Given the description of an element on the screen output the (x, y) to click on. 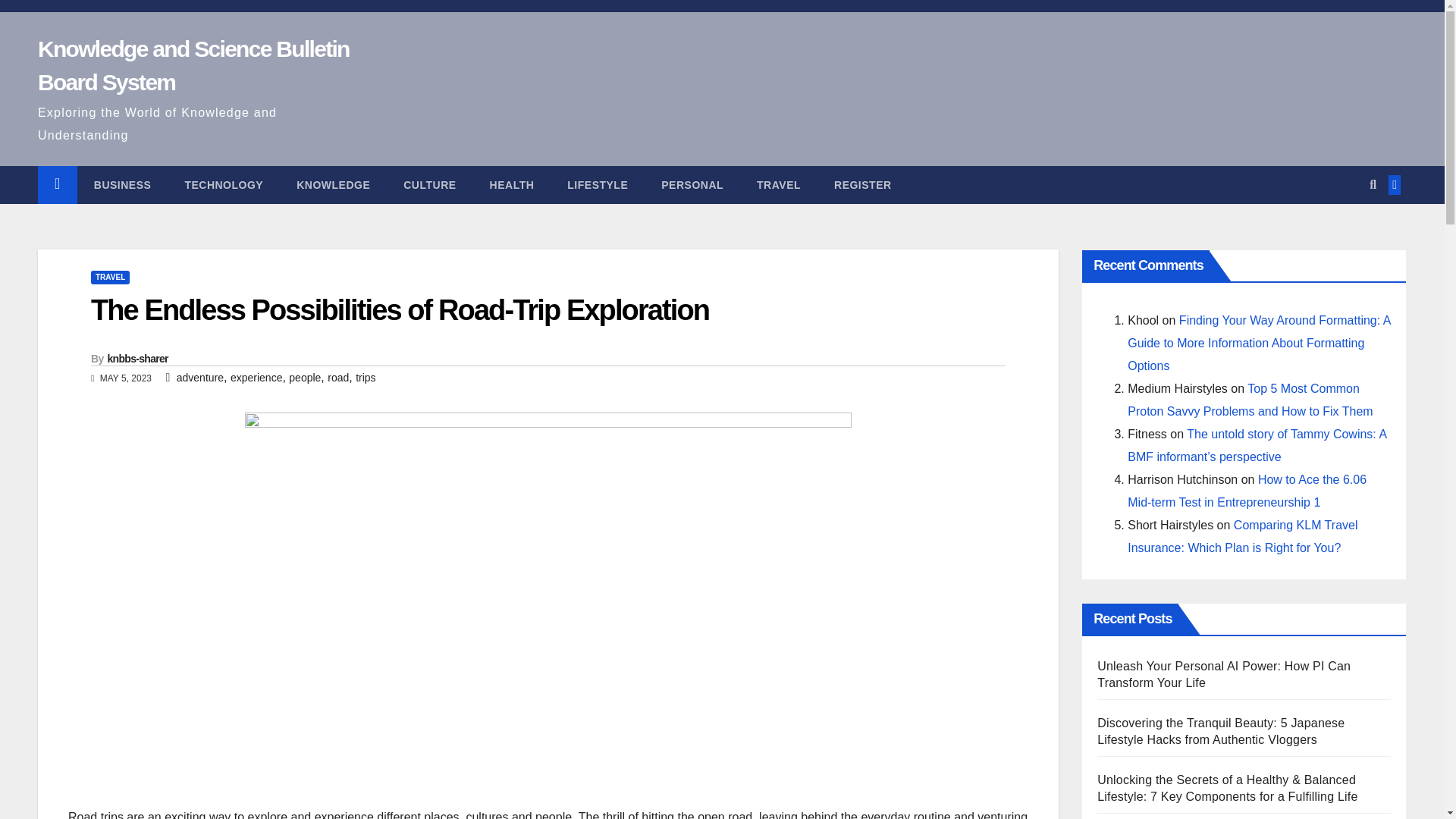
REGISTER (862, 184)
experience (256, 377)
TRAVEL (109, 277)
PERSONAL (692, 184)
adventure (200, 377)
Knowledge and Science Bulletin Board System (193, 65)
REGISTER (862, 184)
BUSINESS (122, 184)
Personal (692, 184)
The Endless Possibilities of Road-Trip Exploration (399, 309)
